Given the description of an element on the screen output the (x, y) to click on. 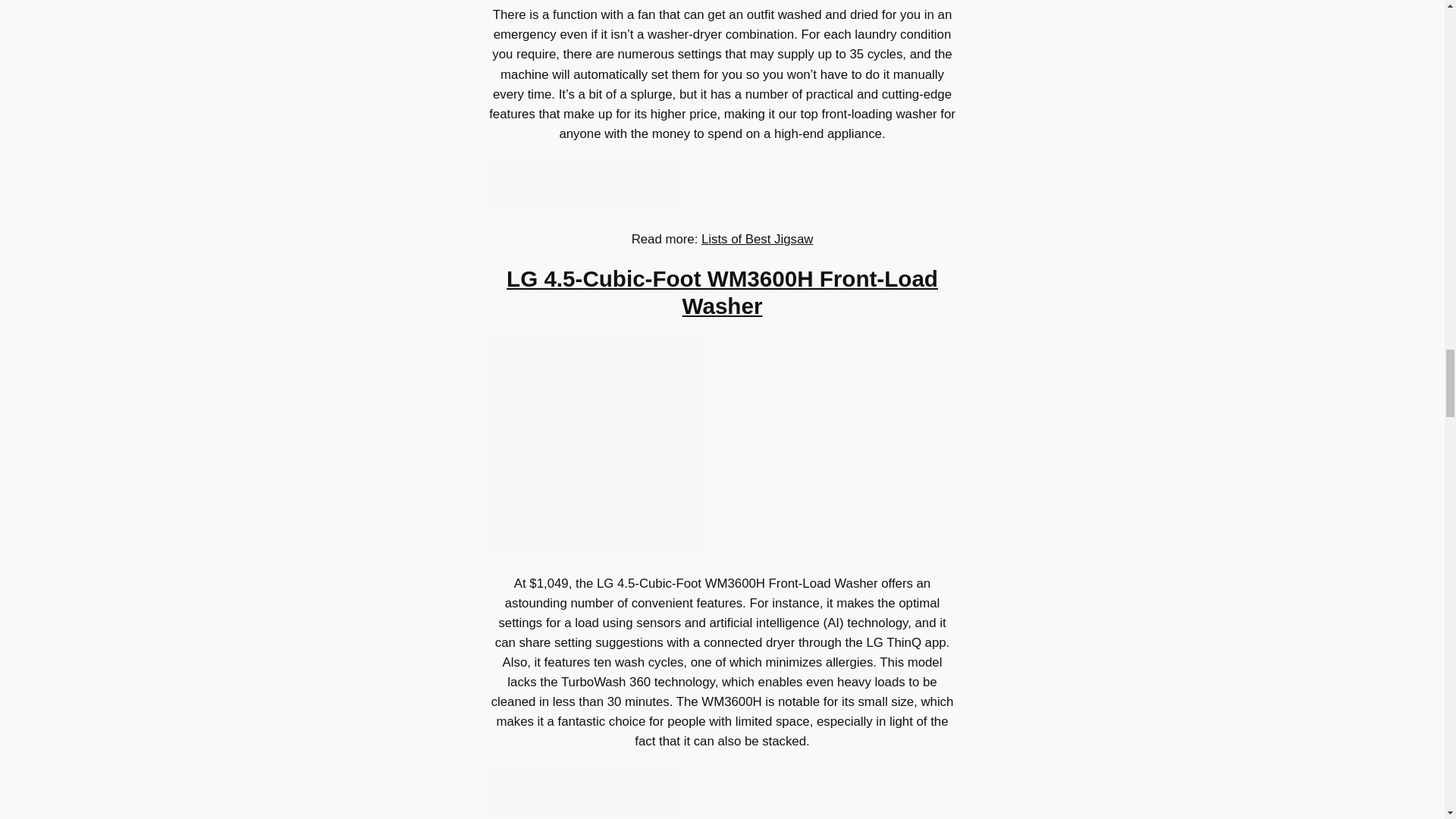
LG 4.5-Cubic-Foot WM3600H Front-Load Washer (721, 292)
Lists of Best Jigsaw (756, 238)
